Given the description of an element on the screen output the (x, y) to click on. 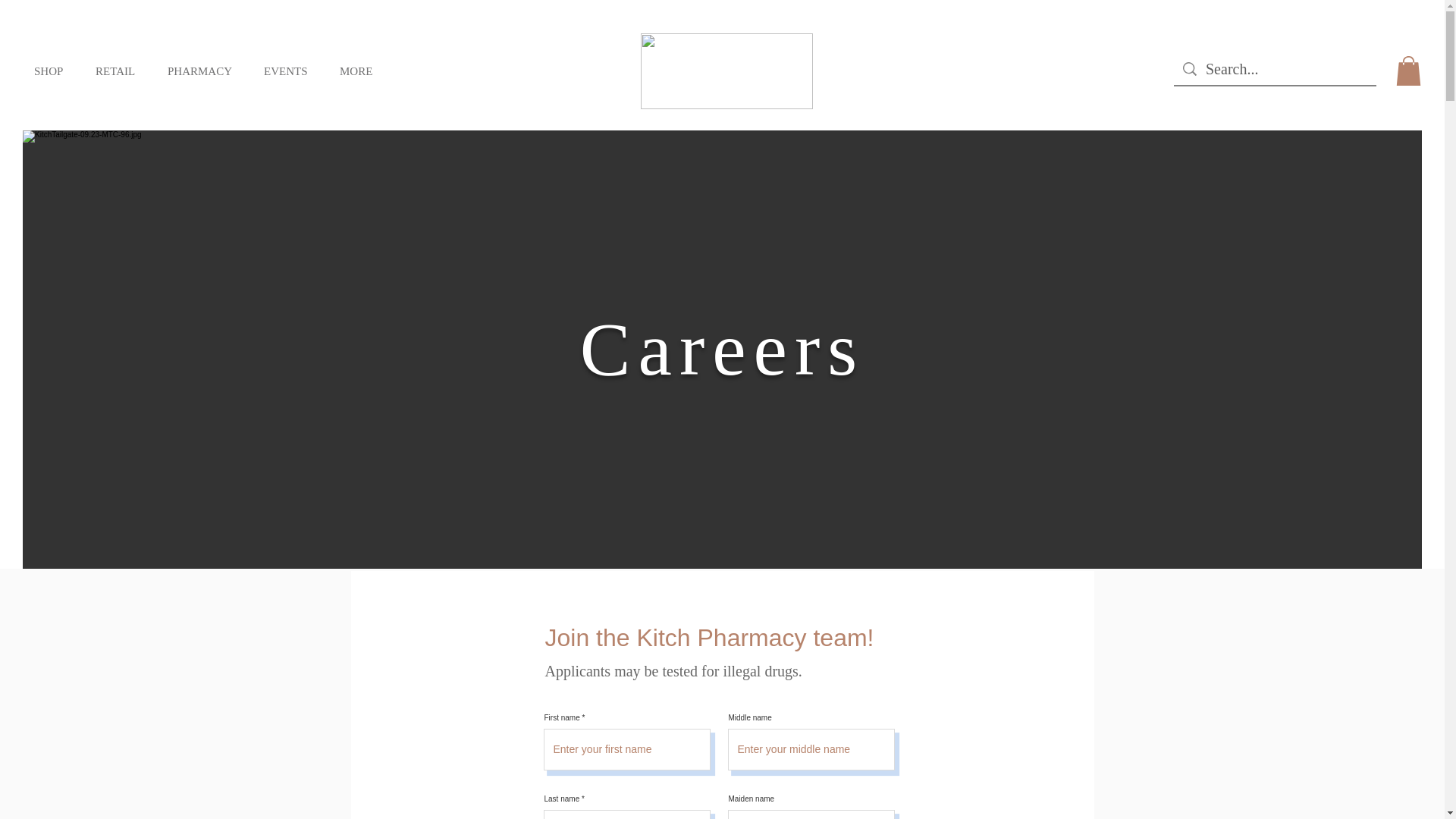
PHARMACY (203, 71)
RETAIL (119, 71)
SHOP (53, 71)
EVENTS (290, 71)
